Given the description of an element on the screen output the (x, y) to click on. 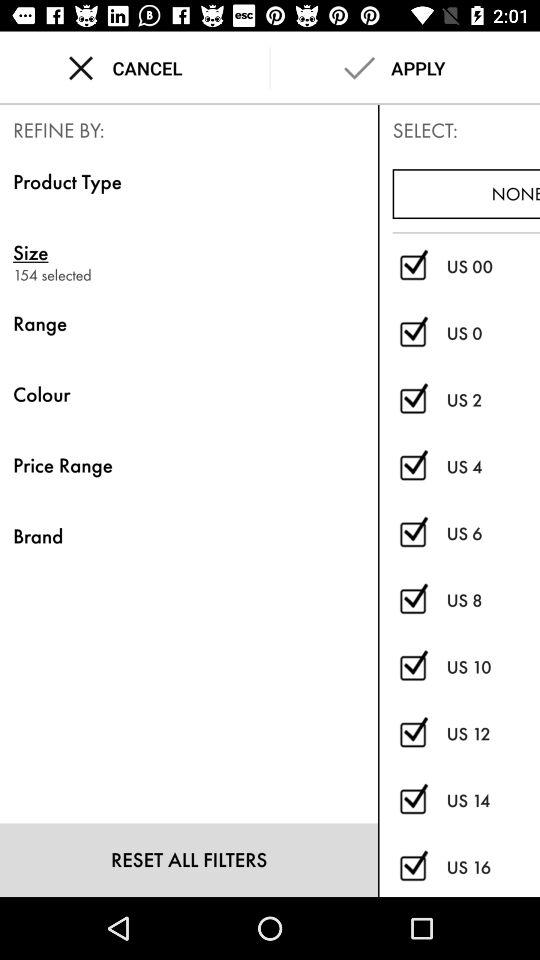
deselect us 2 (412, 400)
